Given the description of an element on the screen output the (x, y) to click on. 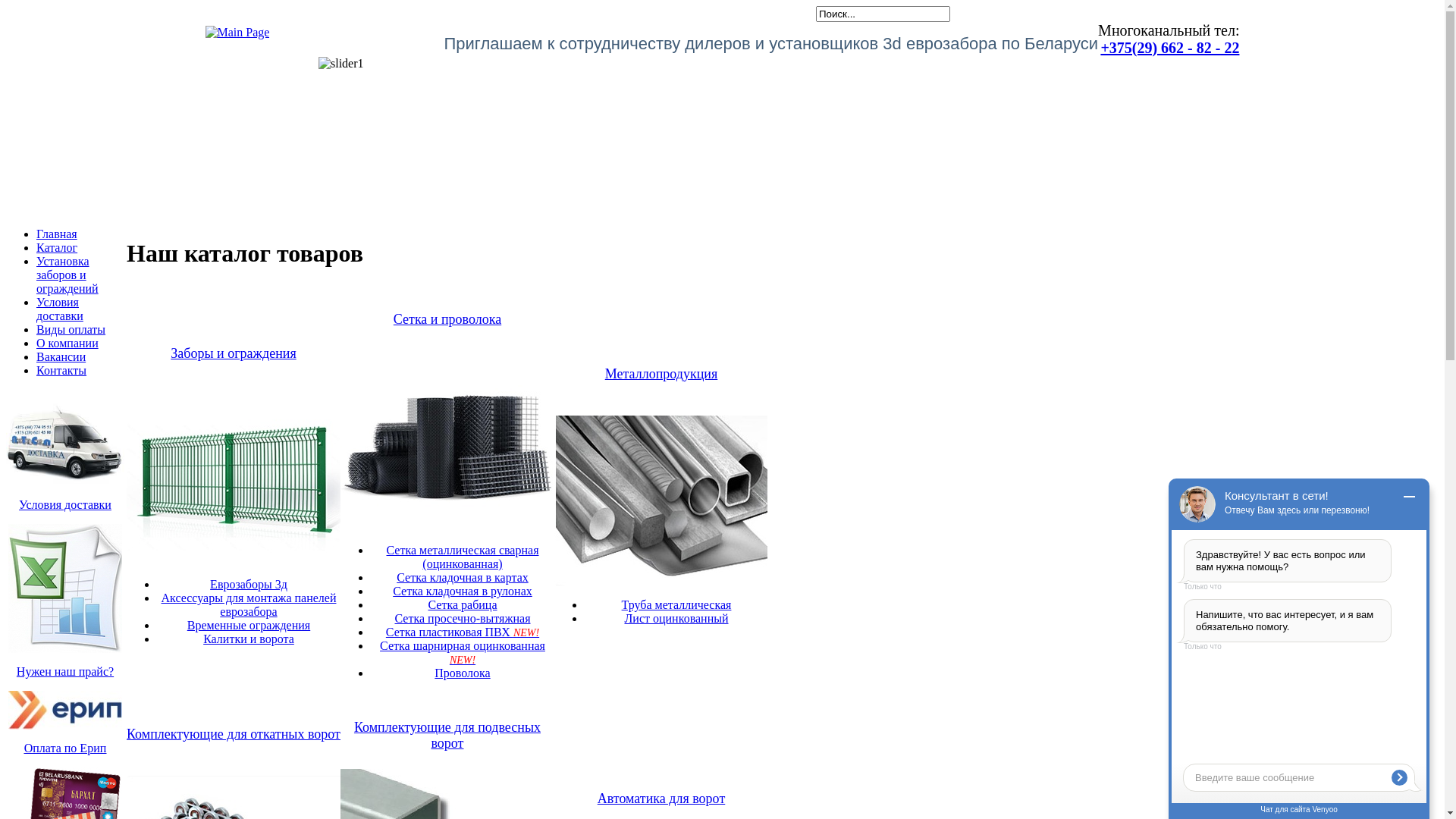
+375(29) 662 - 82 - 22 Element type: text (1169, 47)
